Given the description of an element on the screen output the (x, y) to click on. 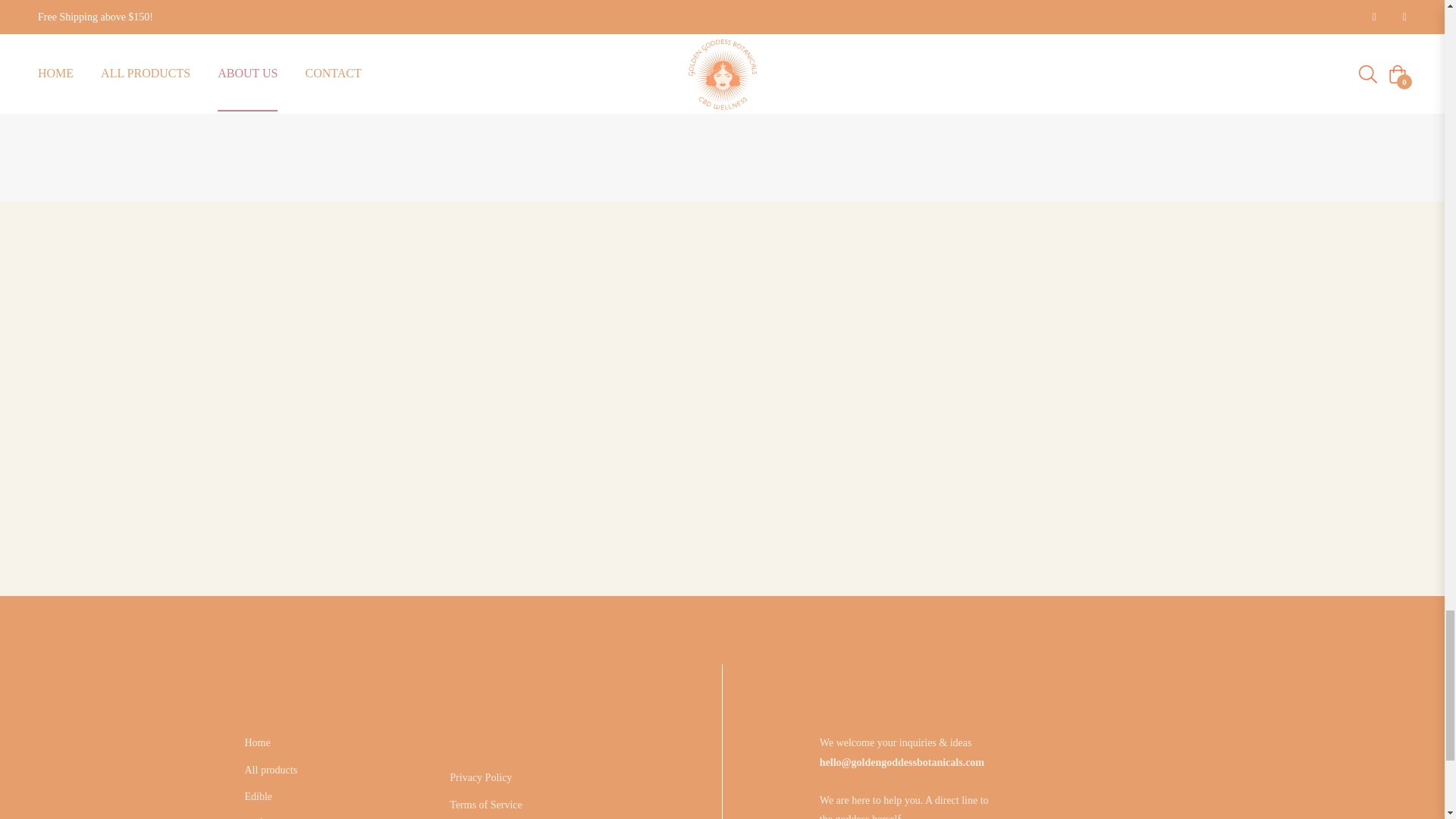
Privacy Policy (480, 777)
Edible (258, 796)
Terms of Service (485, 804)
All products (270, 769)
Perfume (261, 818)
Home (256, 742)
